Given the description of an element on the screen output the (x, y) to click on. 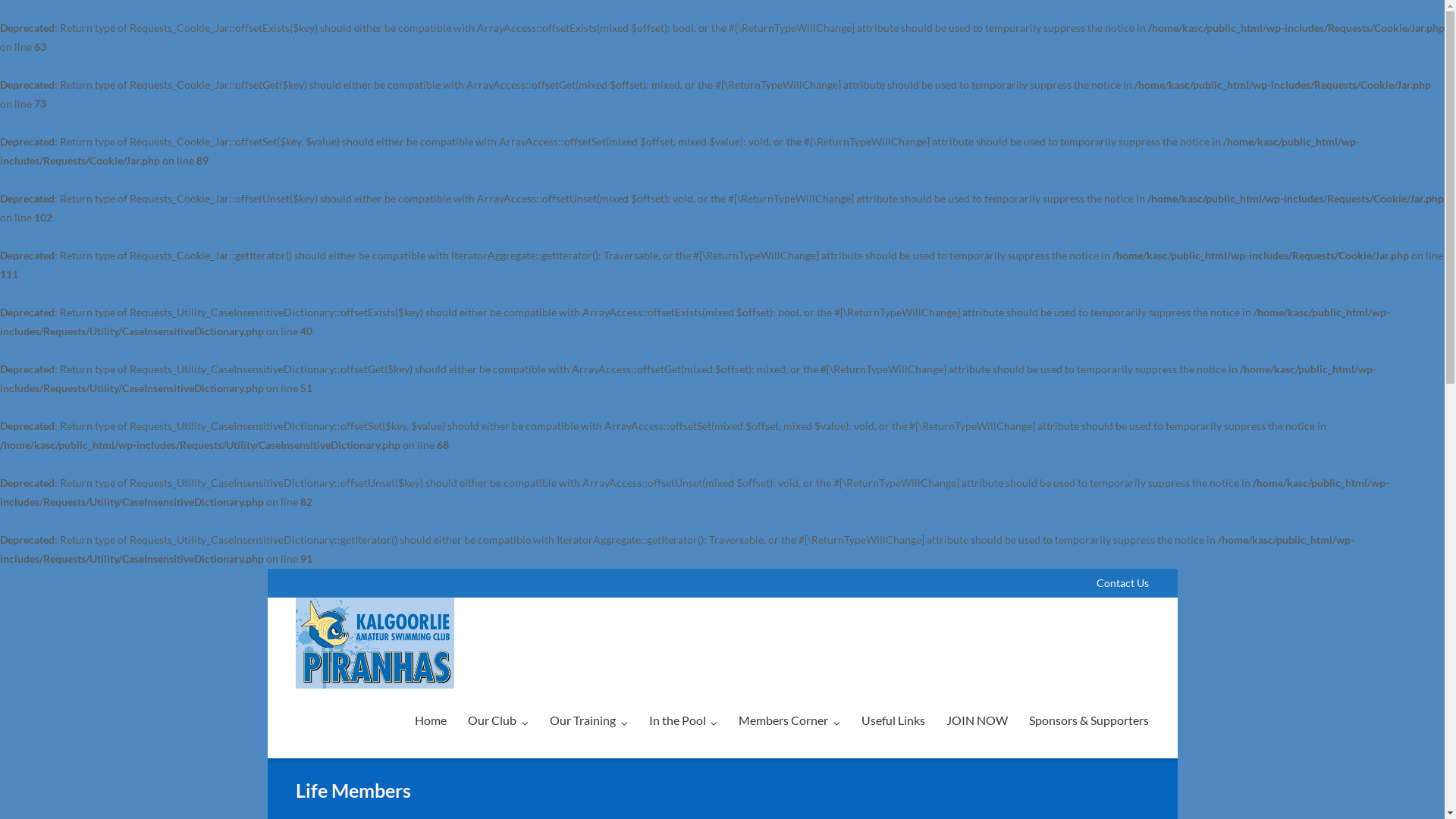
JOIN NOW Element type: text (976, 720)
Members Corner Element type: text (789, 720)
Our Club Element type: text (497, 720)
Our Training Element type: text (588, 720)
Skip to content Element type: text (266, 567)
In the Pool Element type: text (683, 720)
Home Element type: text (430, 720)
Sponsors & Supporters Element type: text (1088, 720)
Contact Us Element type: text (1122, 582)
Useful Links Element type: text (893, 720)
